Given the description of an element on the screen output the (x, y) to click on. 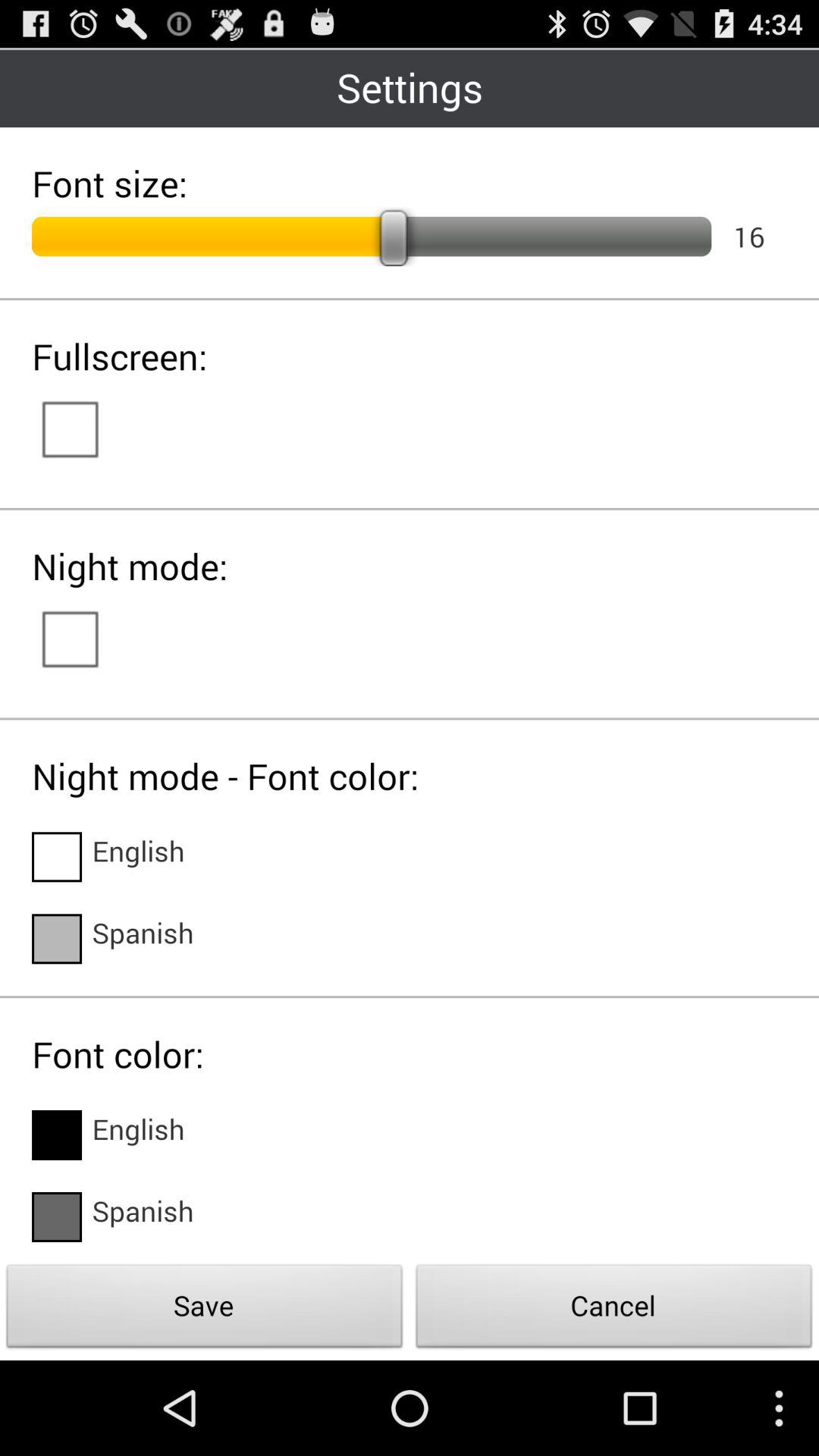
change night mode font color (56, 857)
